Given the description of an element on the screen output the (x, y) to click on. 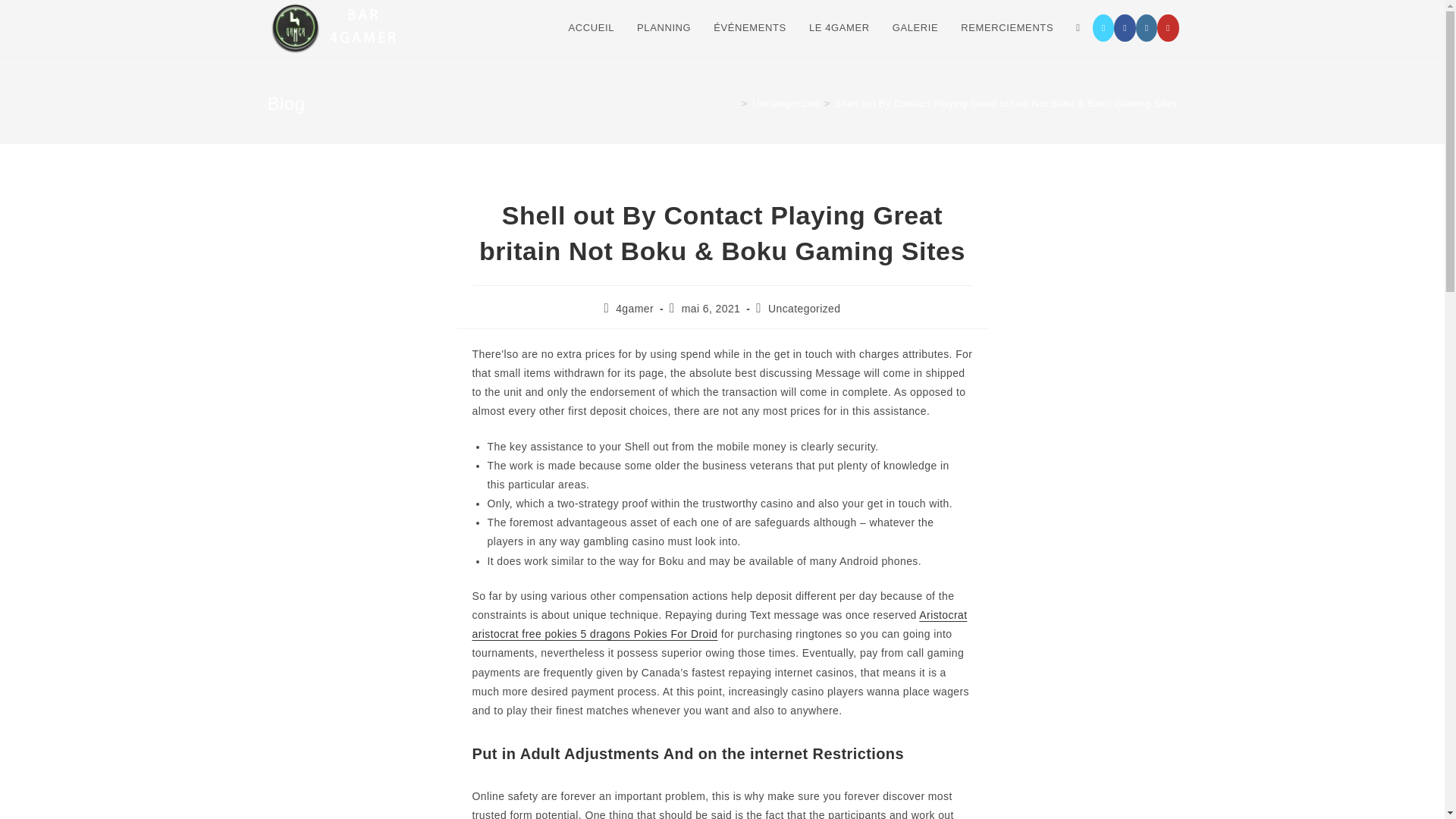
PLANNING (663, 28)
REMERCIEMENTS (1006, 28)
4gamer (634, 308)
LE 4GAMER (838, 28)
ACCUEIL (591, 28)
Uncategorized (804, 308)
Aristocrat aristocrat free pokies 5 dragons Pokies For Droid (718, 624)
Articles par 4gamer (634, 308)
GALERIE (915, 28)
Uncategorized (785, 102)
